Given the description of an element on the screen output the (x, y) to click on. 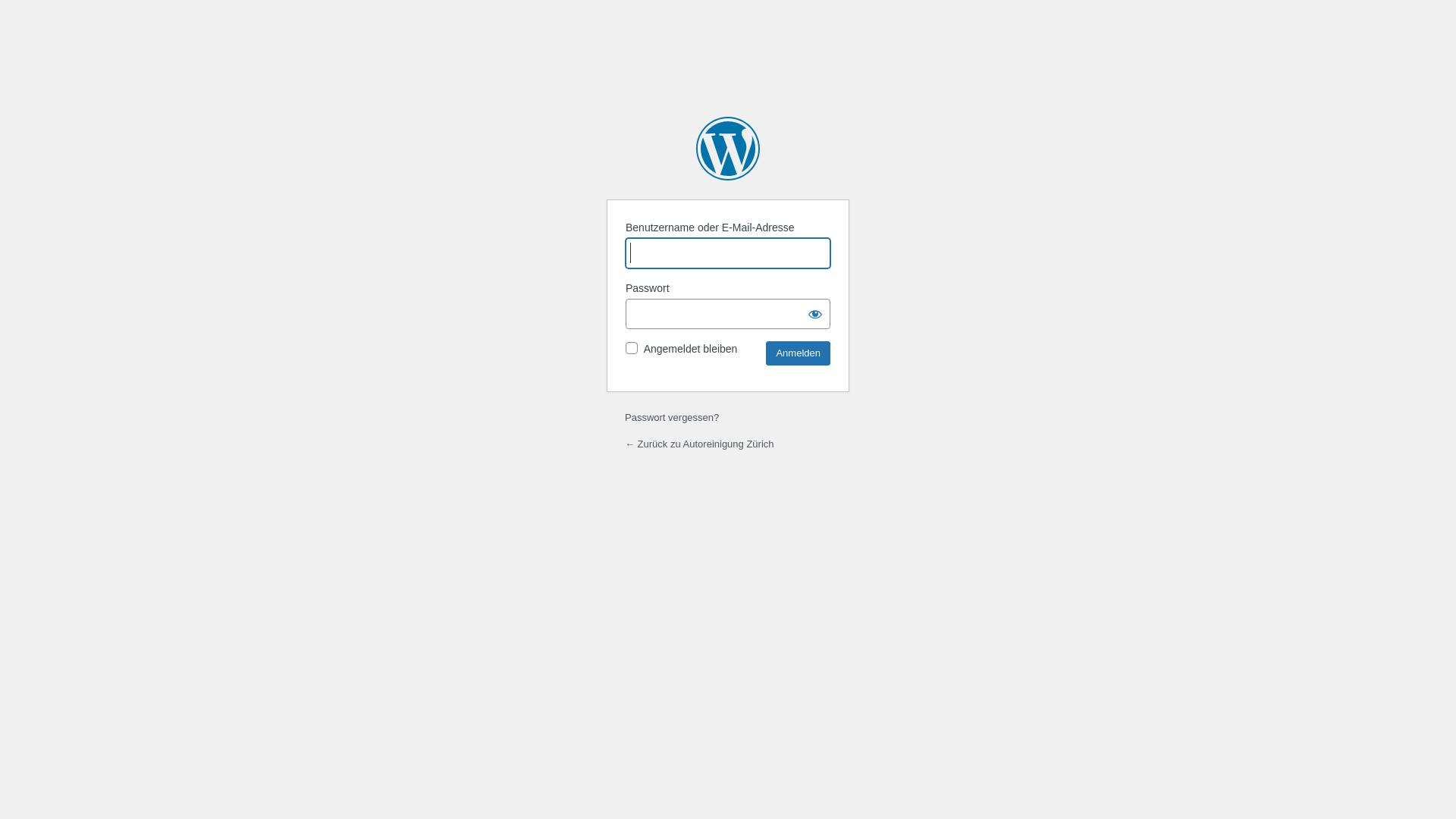
Powered by WordPress Element type: text (727, 148)
Anmelden Element type: text (797, 353)
Passwort vergessen? Element type: text (671, 417)
